Given the description of an element on the screen output the (x, y) to click on. 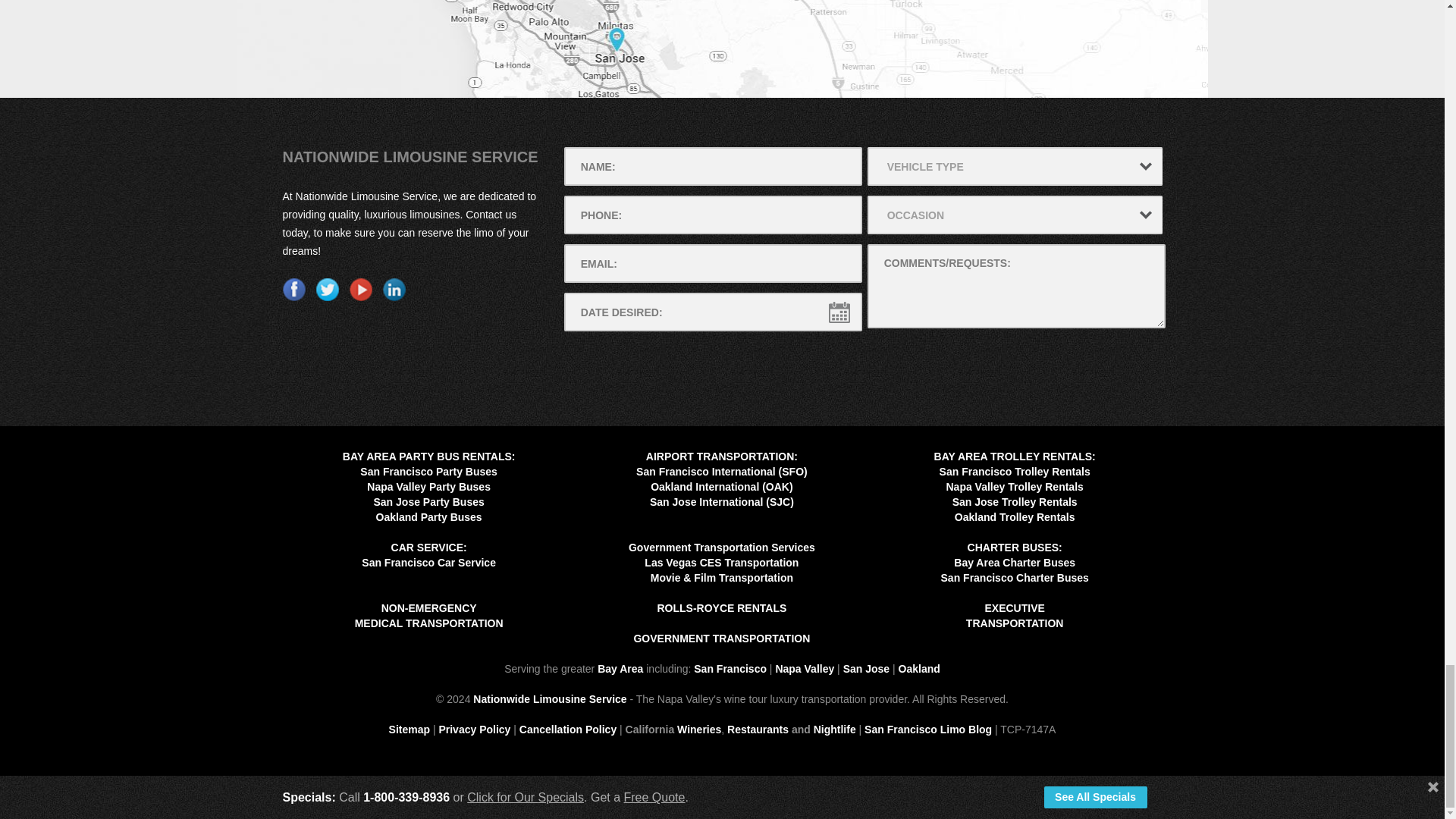
View our YouTube Videos (360, 289)
Follow us on Twitter (326, 289)
Follow us on LinkedIn (392, 289)
Follow us on Facebook (293, 289)
